Given the description of an element on the screen output the (x, y) to click on. 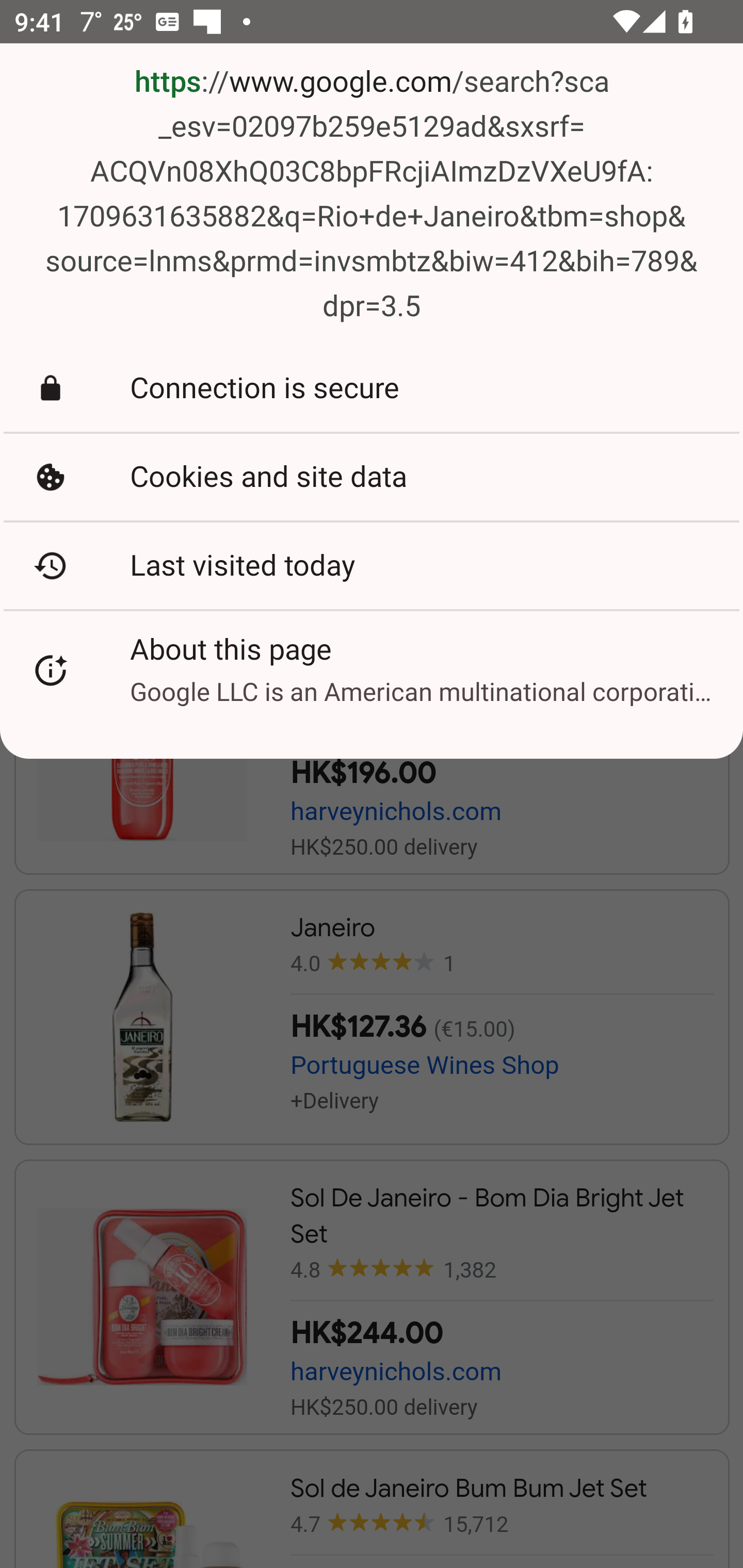
Connection is secure (371, 387)
Cookies and site data (371, 477)
Last visited today (371, 565)
